Given the description of an element on the screen output the (x, y) to click on. 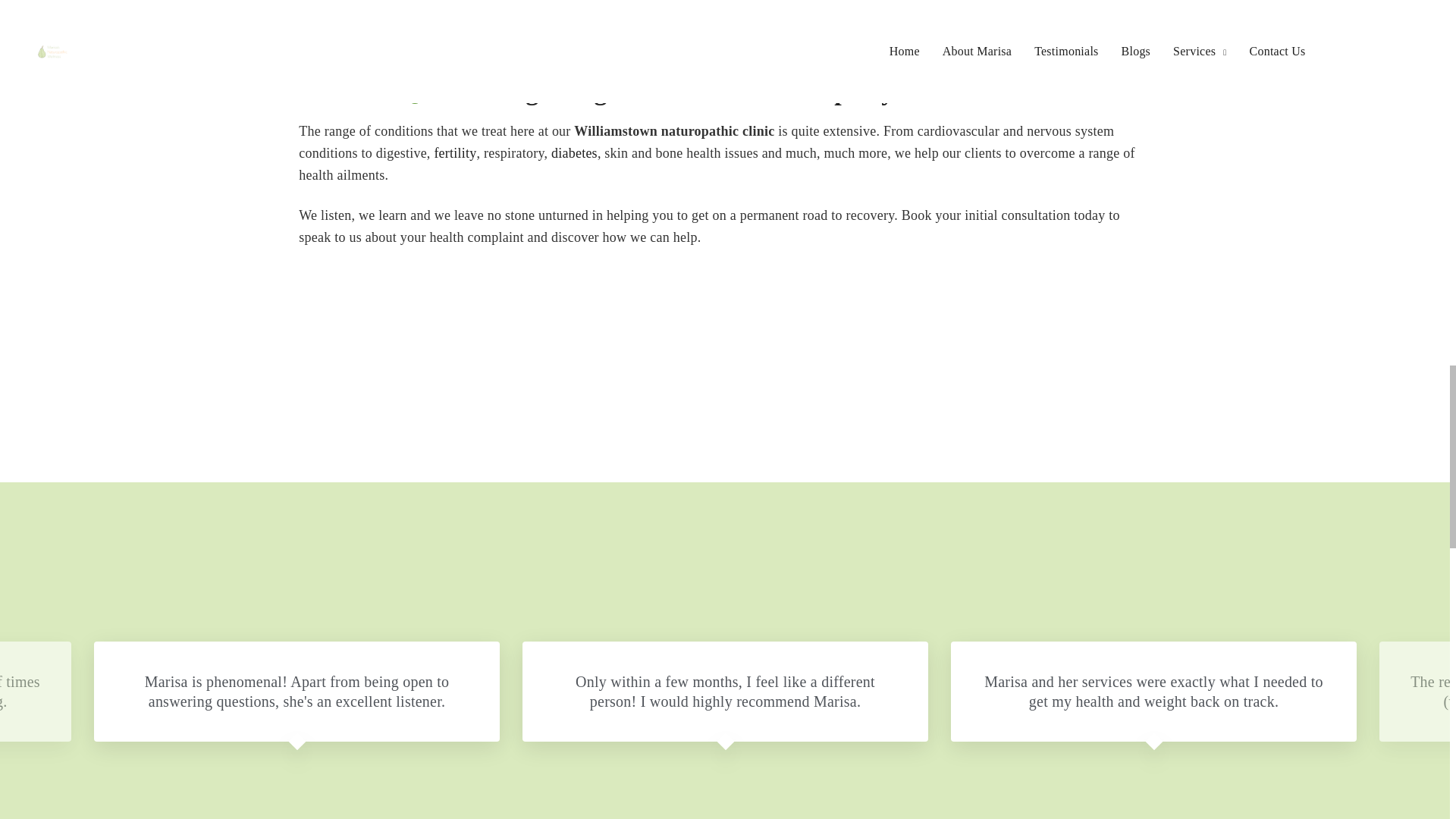
fertility (454, 153)
diabetes (573, 153)
